Given the description of an element on the screen output the (x, y) to click on. 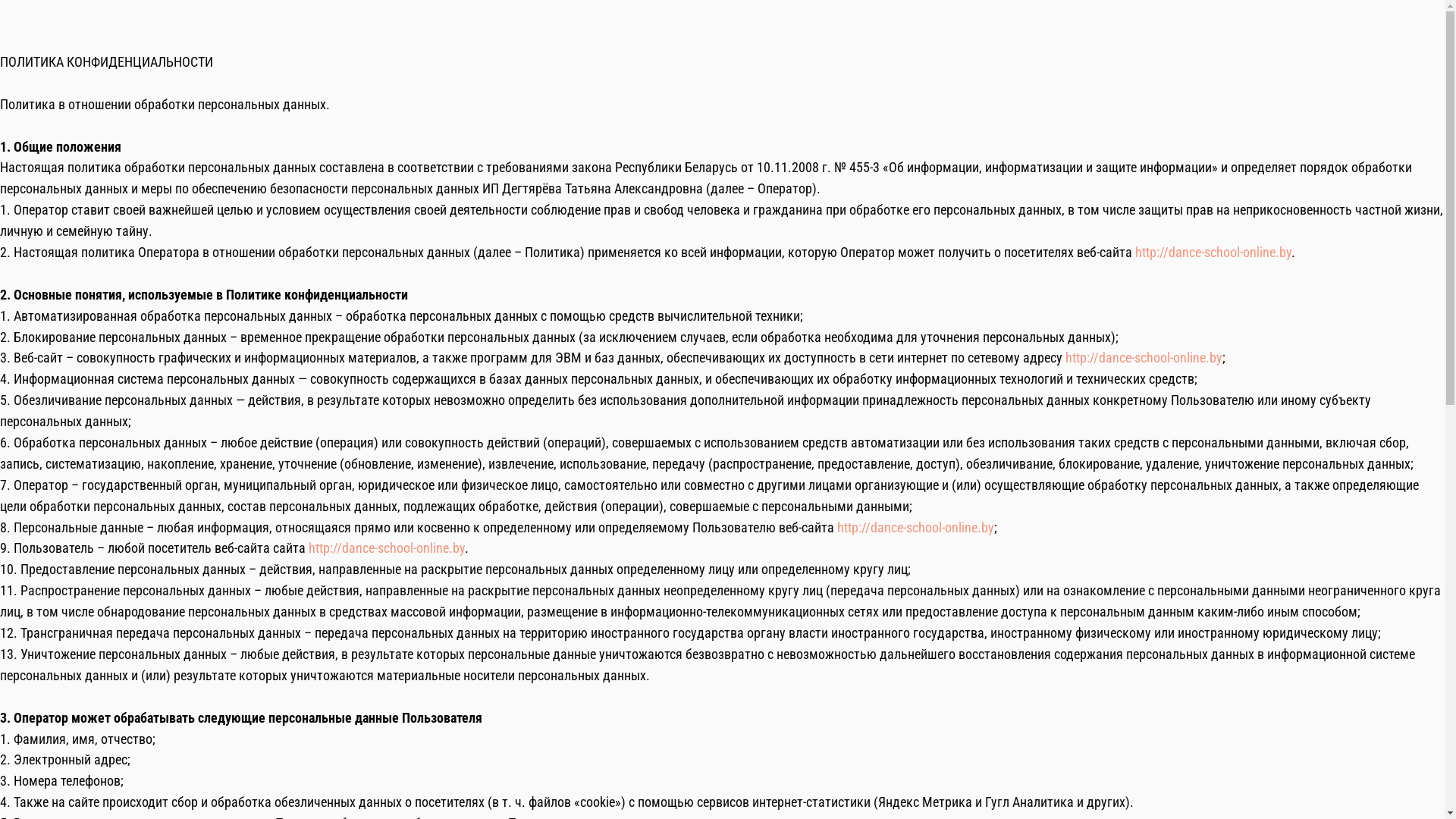
http://dance-school-online.by Element type: text (1143, 357)
http://dance-school-online.by Element type: text (1213, 252)
http://dance-school-online.by Element type: text (915, 527)
http://dance-school-online.by Element type: text (386, 547)
